Given the description of an element on the screen output the (x, y) to click on. 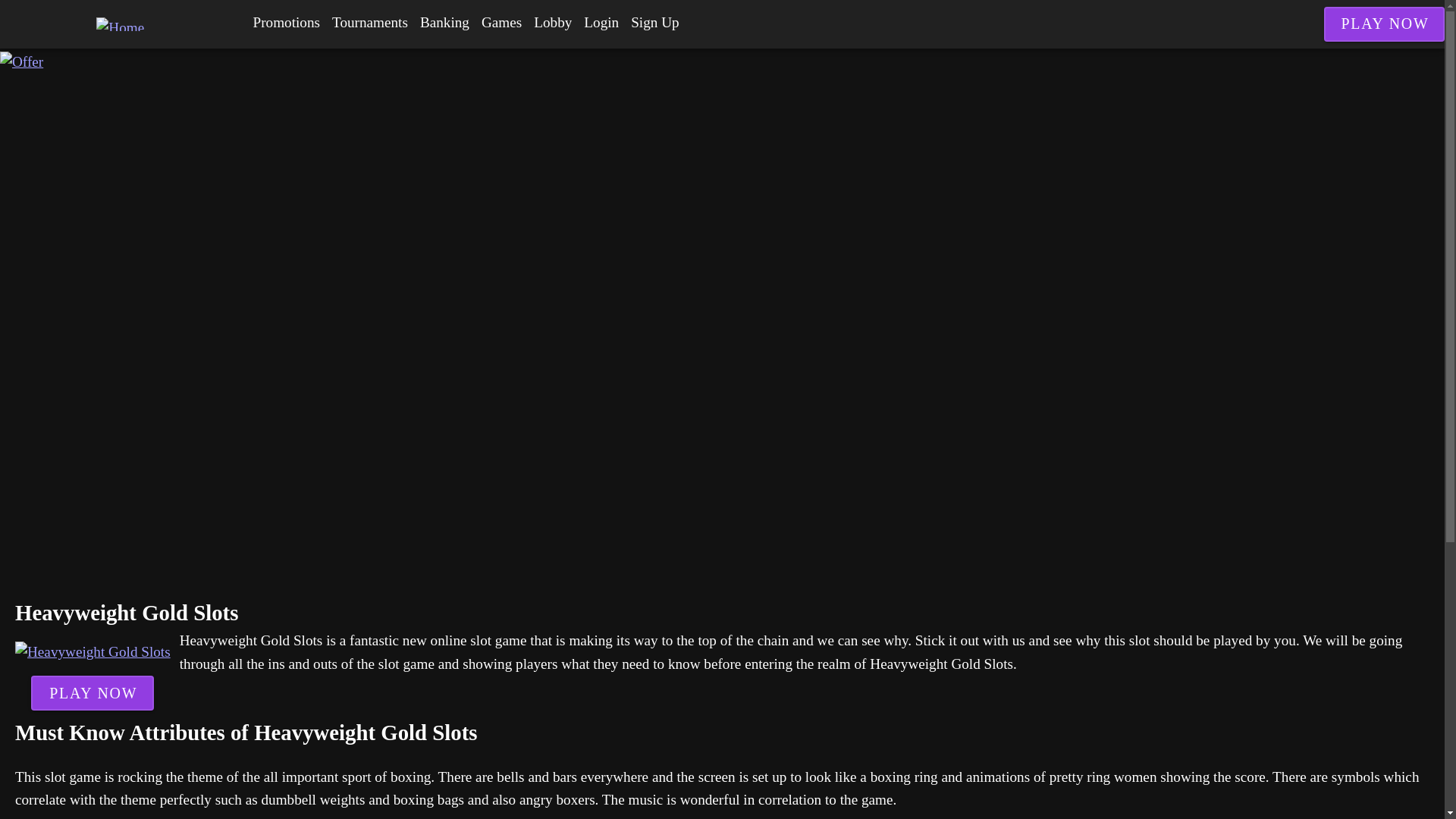
Tournaments (369, 22)
Login (601, 22)
Lobby (552, 22)
Banking (444, 22)
Games (501, 22)
Promotions (286, 22)
PLAY NOW (92, 692)
Sign Up (654, 22)
